Given the description of an element on the screen output the (x, y) to click on. 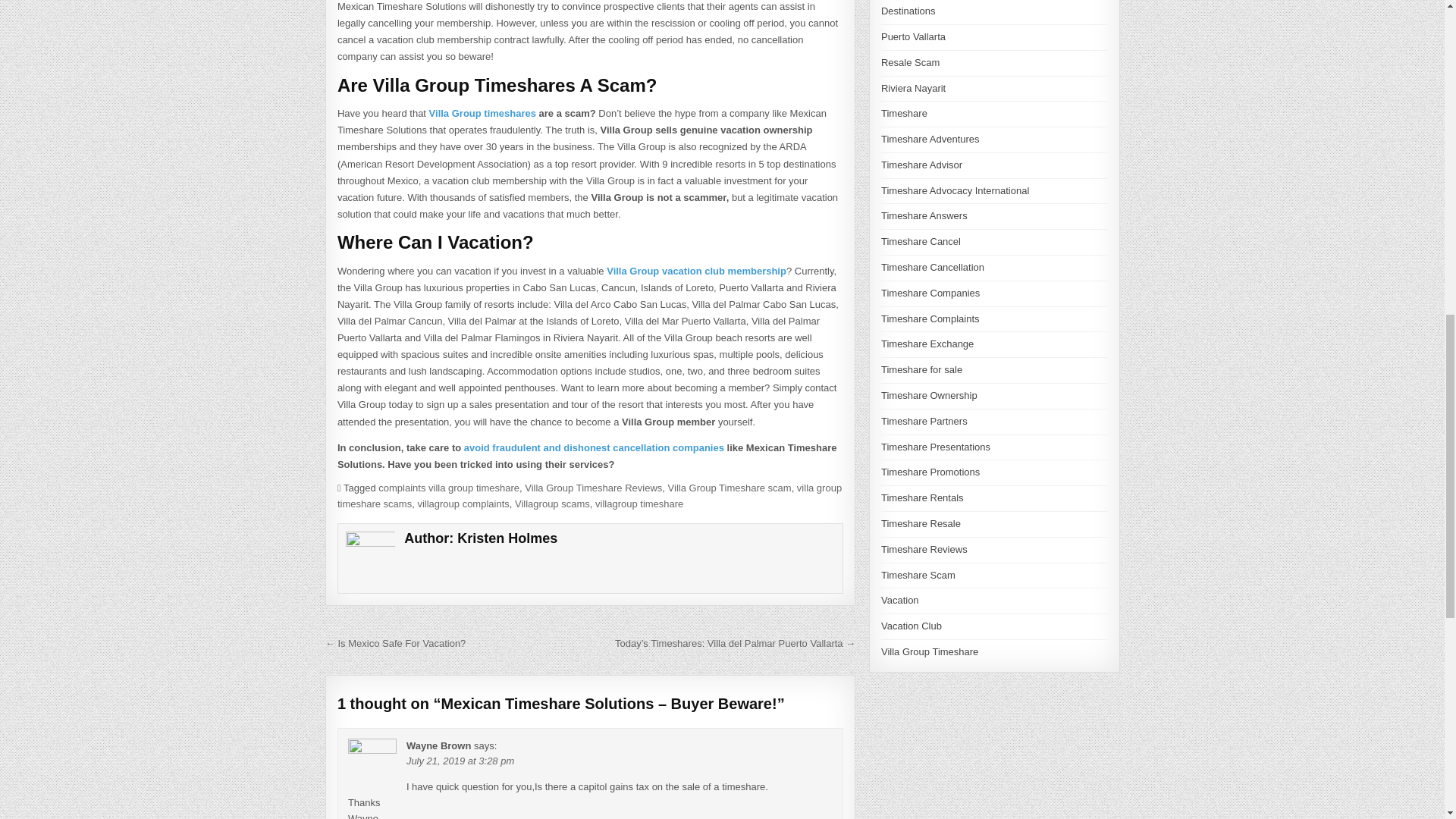
complaints villa group timeshare (448, 487)
Villa Group vacation club membership (696, 270)
avoid fraudulent and dishonest cancellation companies (593, 447)
Villa Group timeshares (482, 112)
